Given the description of an element on the screen output the (x, y) to click on. 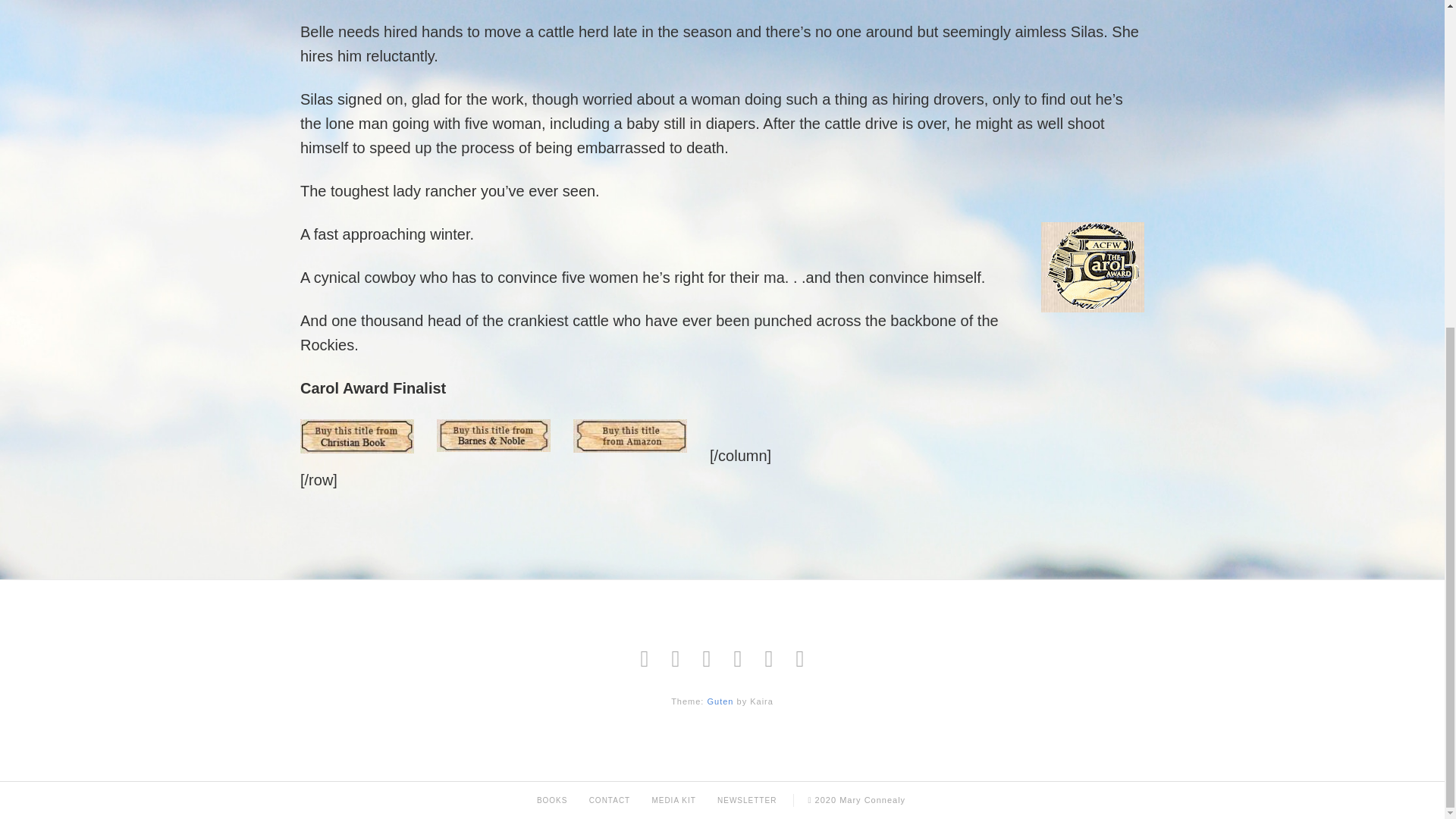
Guten (719, 700)
